Given the description of an element on the screen output the (x, y) to click on. 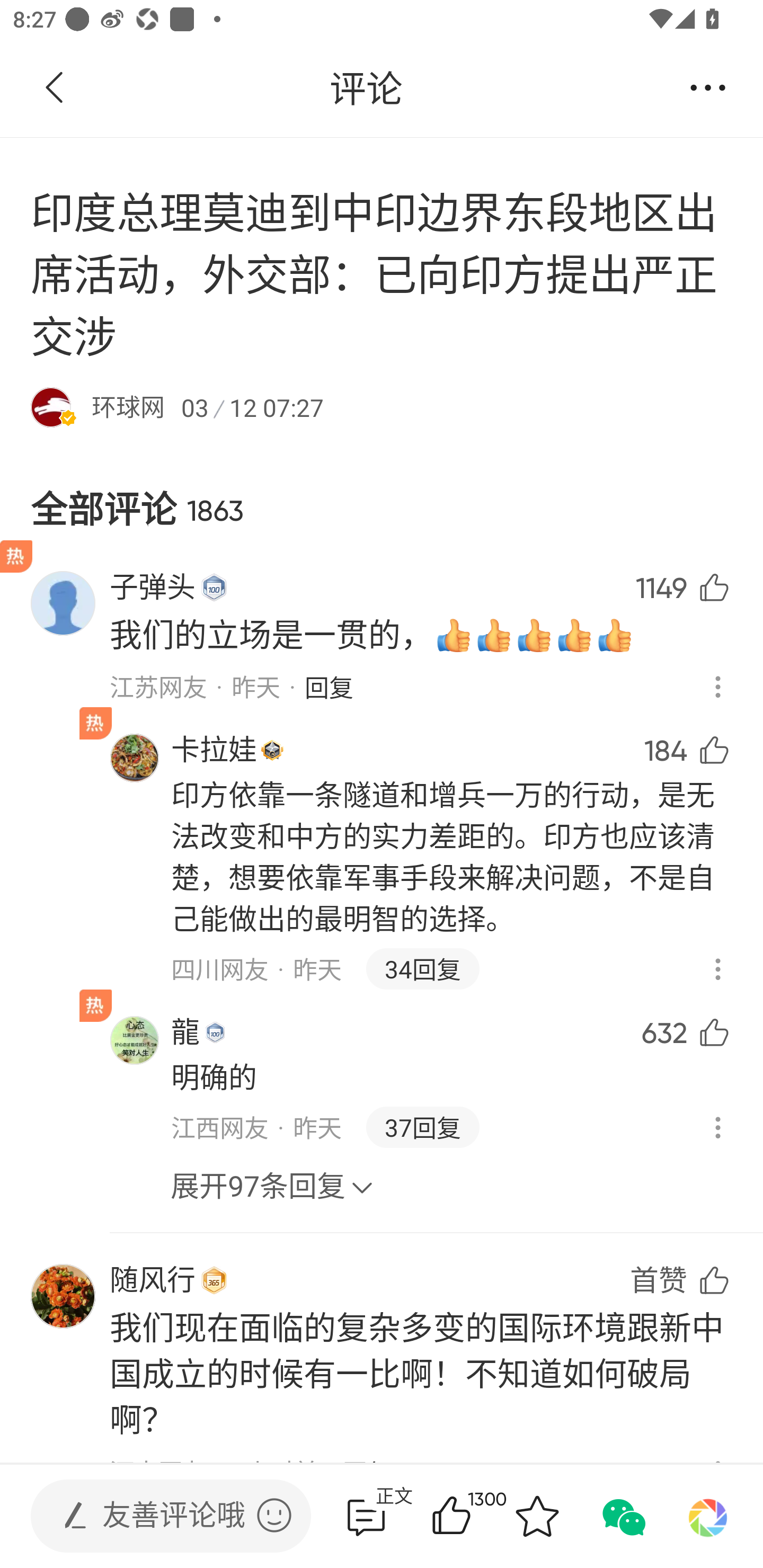
评论 (365, 87)
分享  (707, 87)
 返回 (54, 87)
环球网 (127, 407)
UserRightLabel_OneMedalView 勋章 (213, 587)
UserRightLabel_OneMedalView 勋章 (271, 749)
UserRightLabel_OneMedalView 勋章 (214, 1032)
展开97条回复  (271, 1176)
UserRightLabel_OneMedalView 勋章 (213, 1280)
发表评论  友善评论哦 发表评论  (155, 1516)
1863评论  1863 评论 (365, 1516)
1300赞 (476, 1516)
收藏  (536, 1516)
分享到微信  (622, 1516)
分享到朋友圈 (707, 1516)
 (274, 1515)
